Given the description of an element on the screen output the (x, y) to click on. 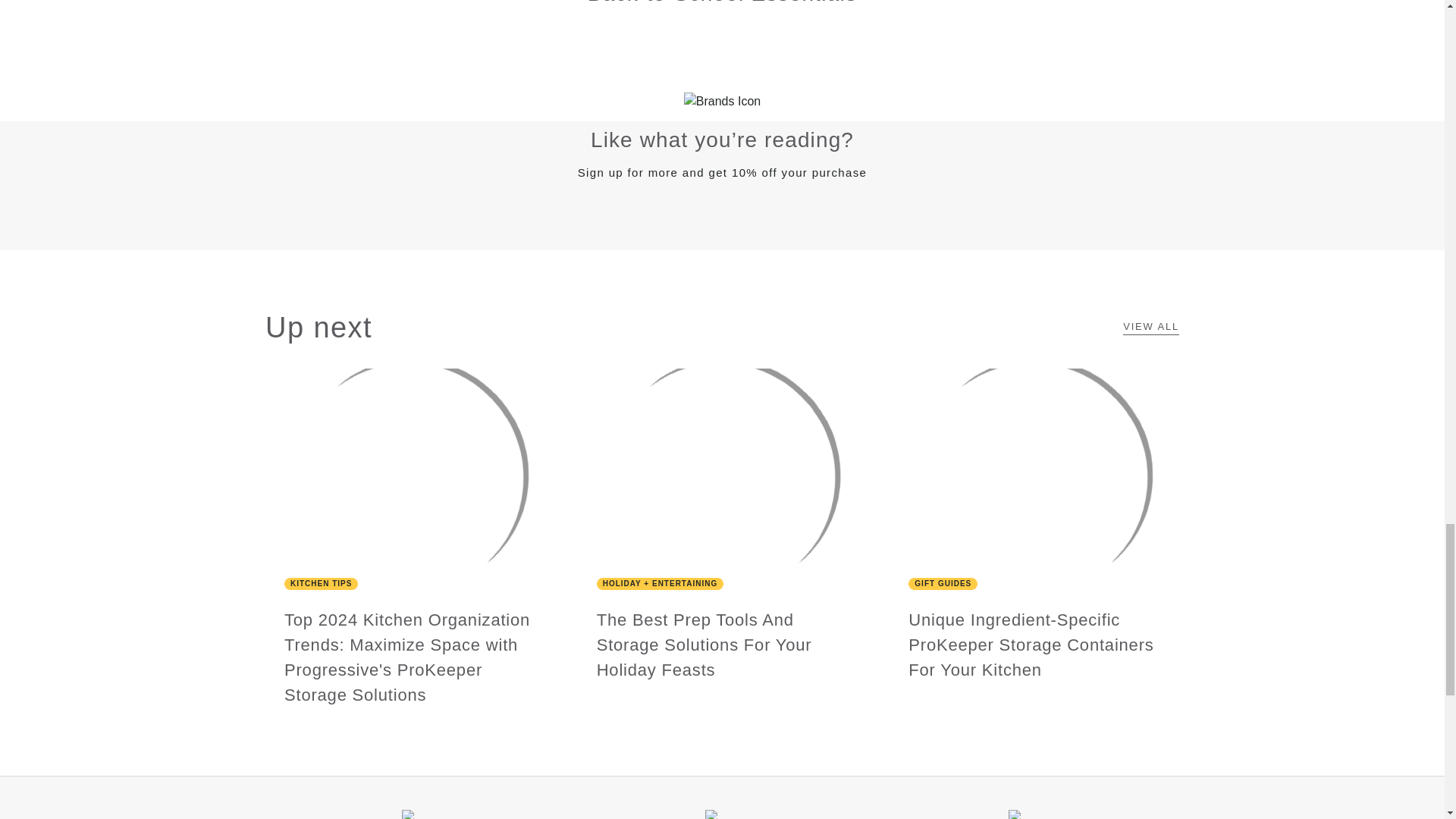
View All (1150, 327)
VIEW ALL (1150, 327)
